Given the description of an element on the screen output the (x, y) to click on. 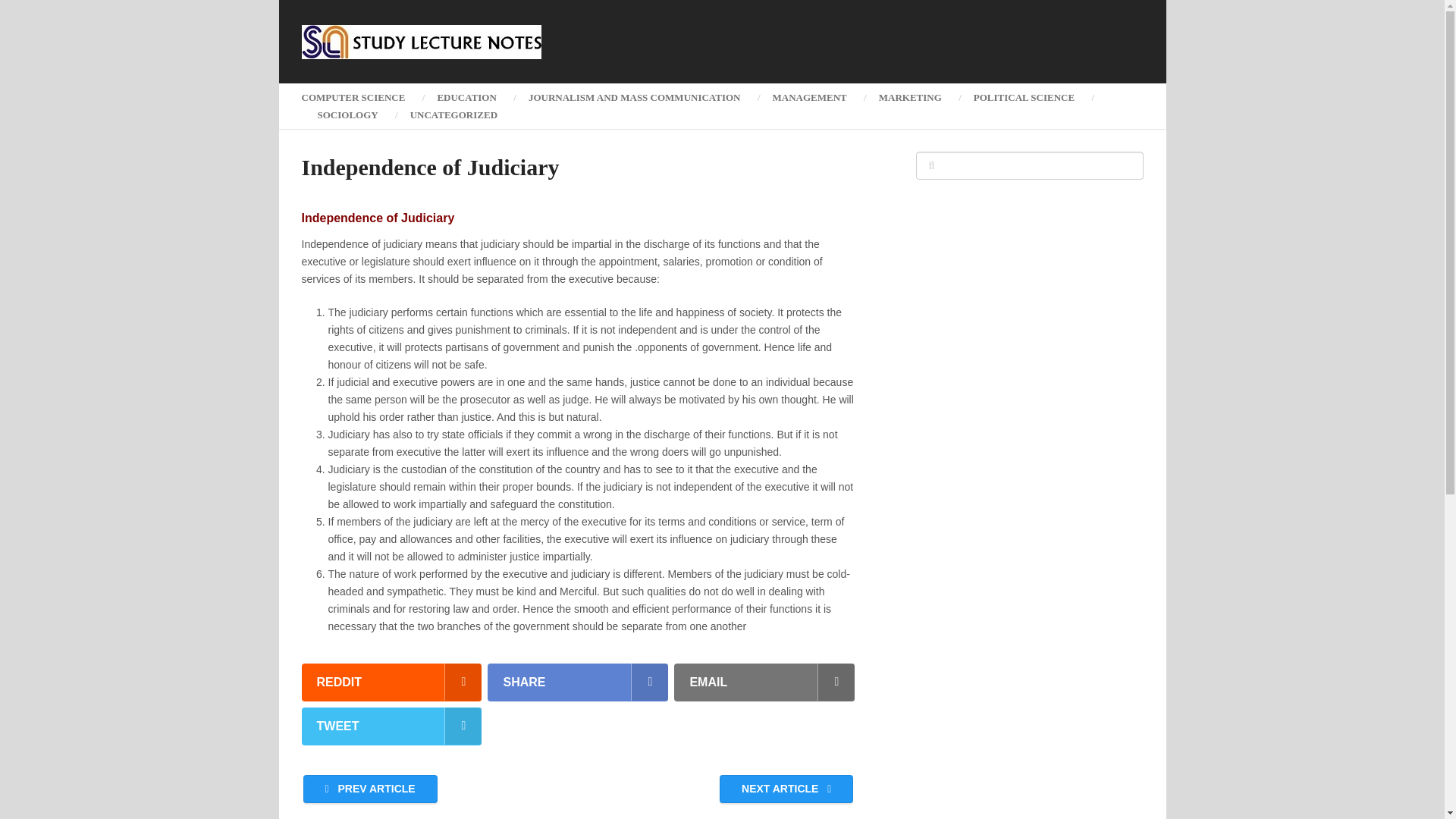
EMAIL (764, 682)
REDDIT (391, 682)
MANAGEMENT (810, 97)
TWEET (391, 726)
UNCATEGORIZED (453, 114)
COMPUTER SCIENCE (361, 97)
PREV ARTICLE (370, 788)
EDUCATION (466, 97)
JOURNALISM AND MASS COMMUNICATION (634, 97)
NEXT ARTICLE (786, 788)
